Given the description of an element on the screen output the (x, y) to click on. 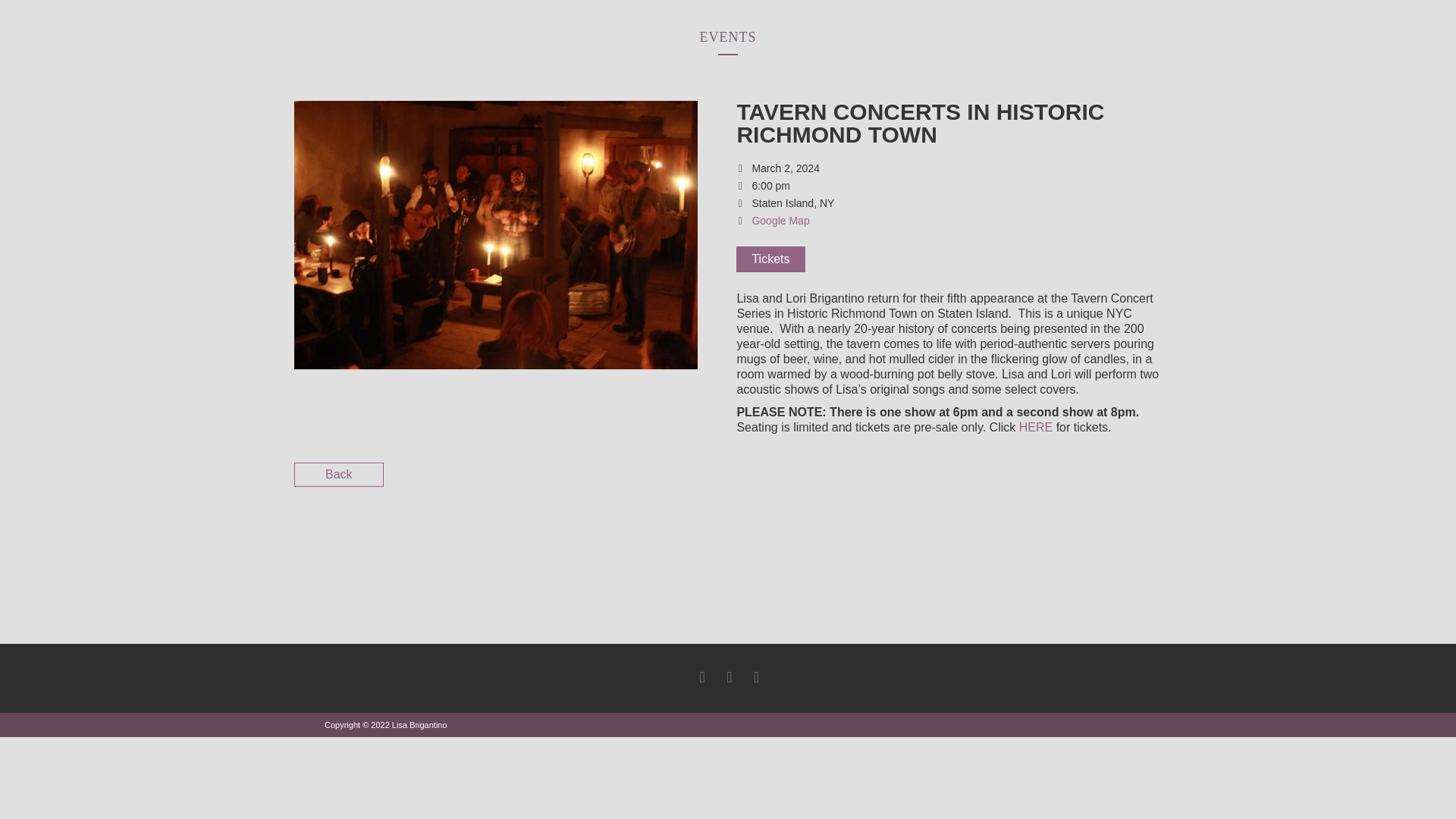
Google Map (780, 220)
Tickets (770, 258)
Back (339, 474)
HERE (1035, 427)
